Given the description of an element on the screen output the (x, y) to click on. 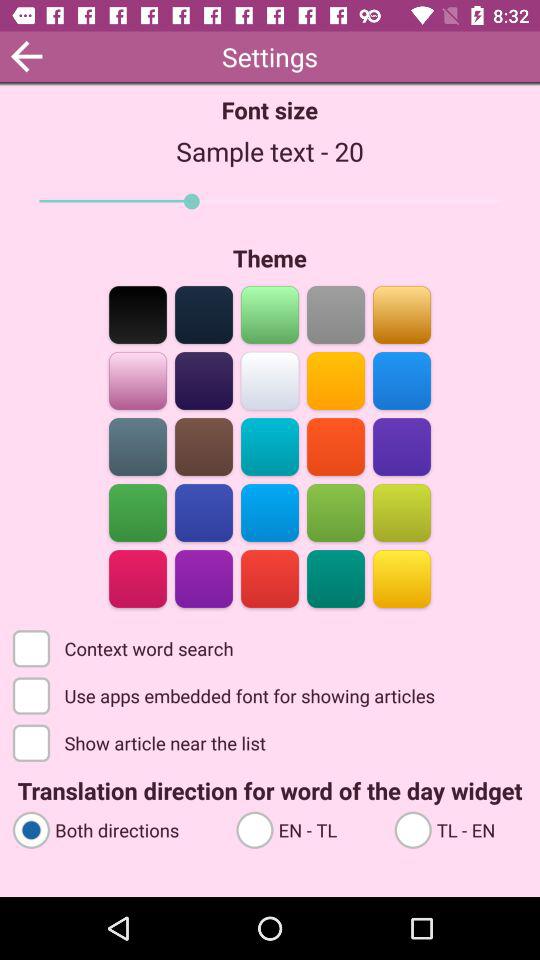
swipe until the both directions (115, 828)
